Given the description of an element on the screen output the (x, y) to click on. 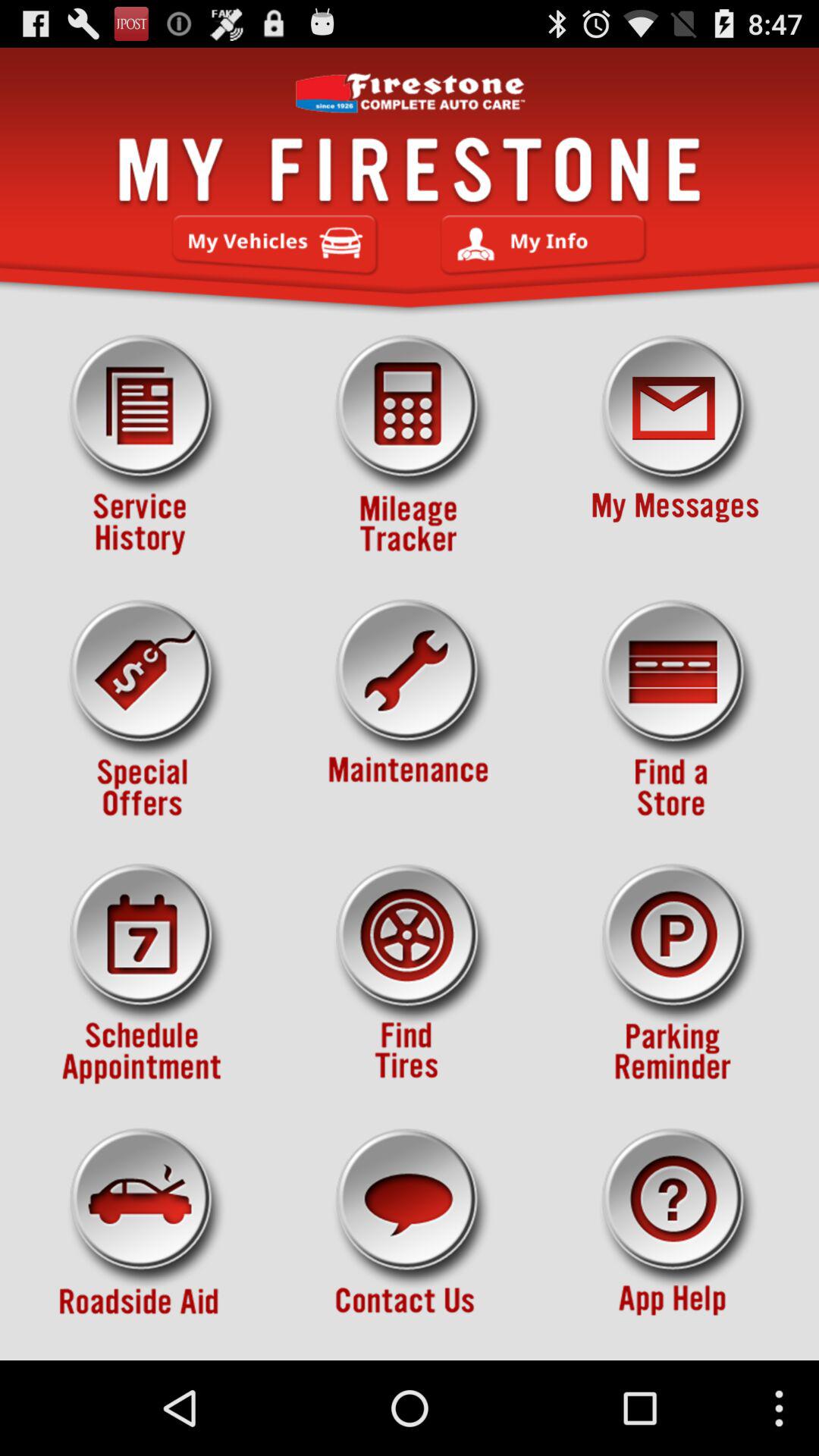
contact us (409, 1238)
